Given the description of an element on the screen output the (x, y) to click on. 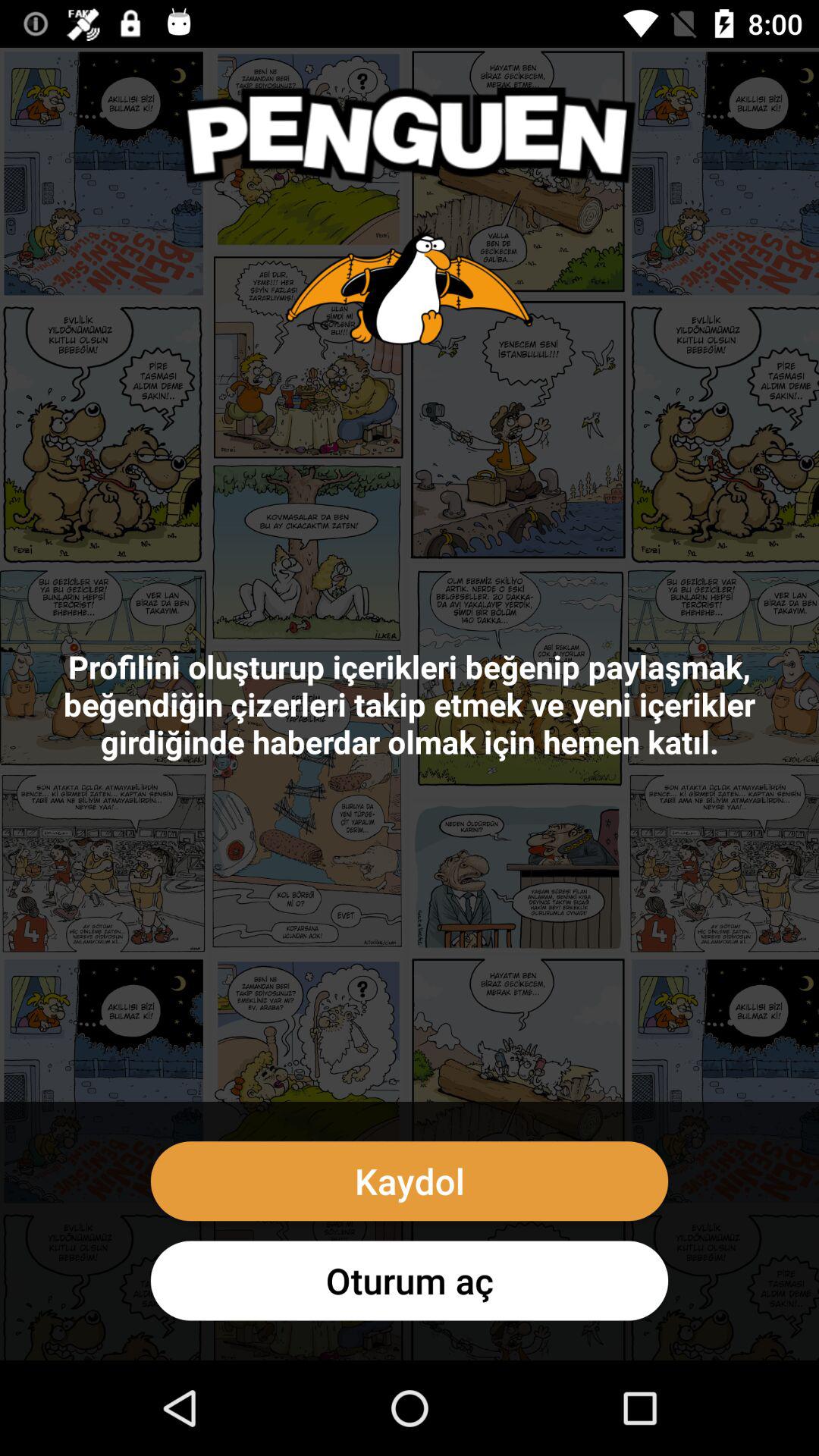
click the icon below the kaydol item (409, 1280)
